Given the description of an element on the screen output the (x, y) to click on. 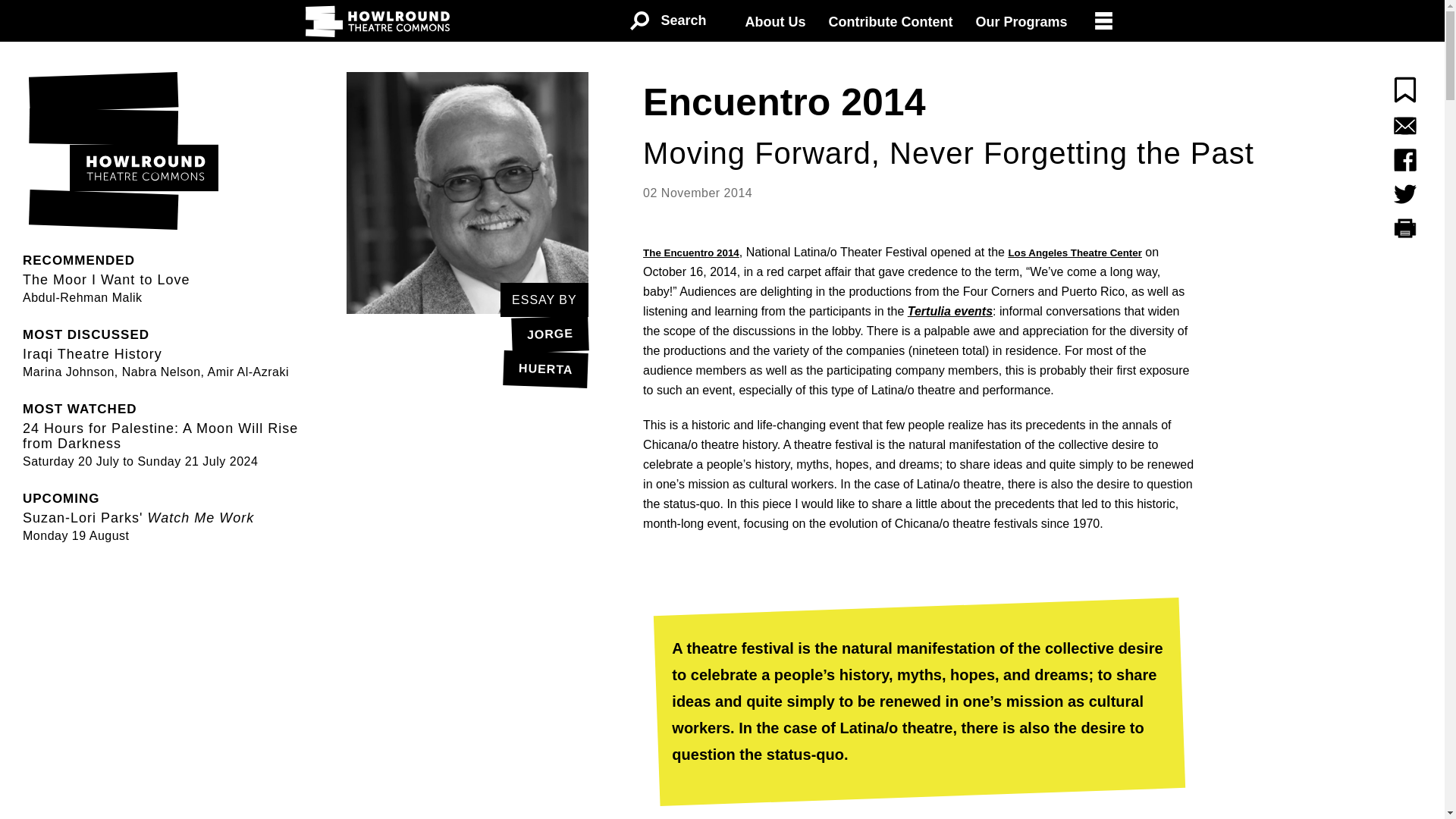
Tertulia events (949, 310)
Contribute Content (889, 21)
Los Angeles Theatre Center (1074, 252)
About Us (774, 21)
Our Programs (1020, 21)
Search (467, 350)
The Encuentro 2014 (667, 20)
